Given the description of an element on the screen output the (x, y) to click on. 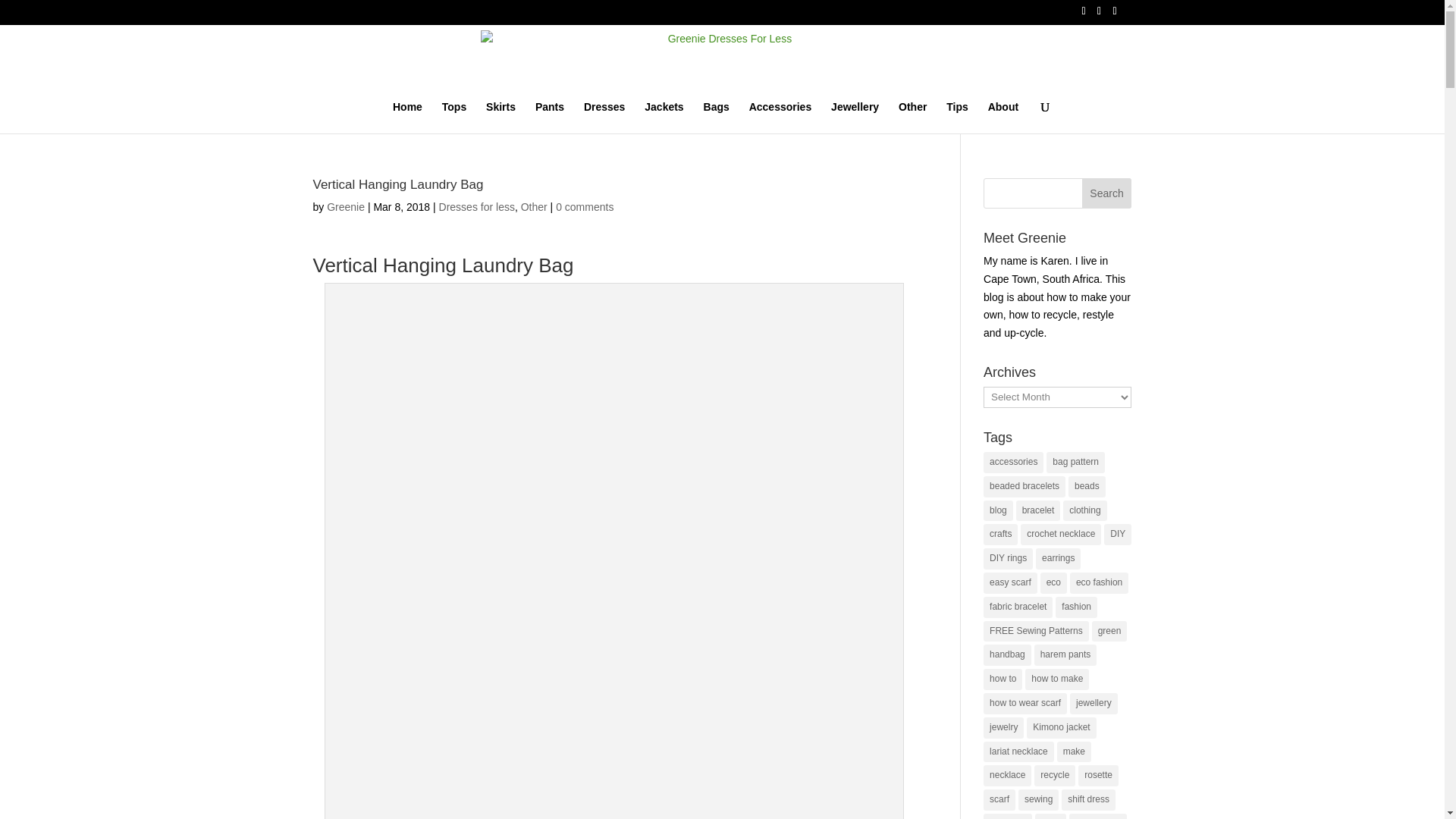
Search (1106, 193)
Pants (549, 117)
Other (534, 206)
Accessories (780, 117)
Dresses (604, 117)
bag pattern (1075, 462)
blog (998, 510)
Jackets (663, 117)
About (1002, 117)
Search (1106, 193)
